Given the description of an element on the screen output the (x, y) to click on. 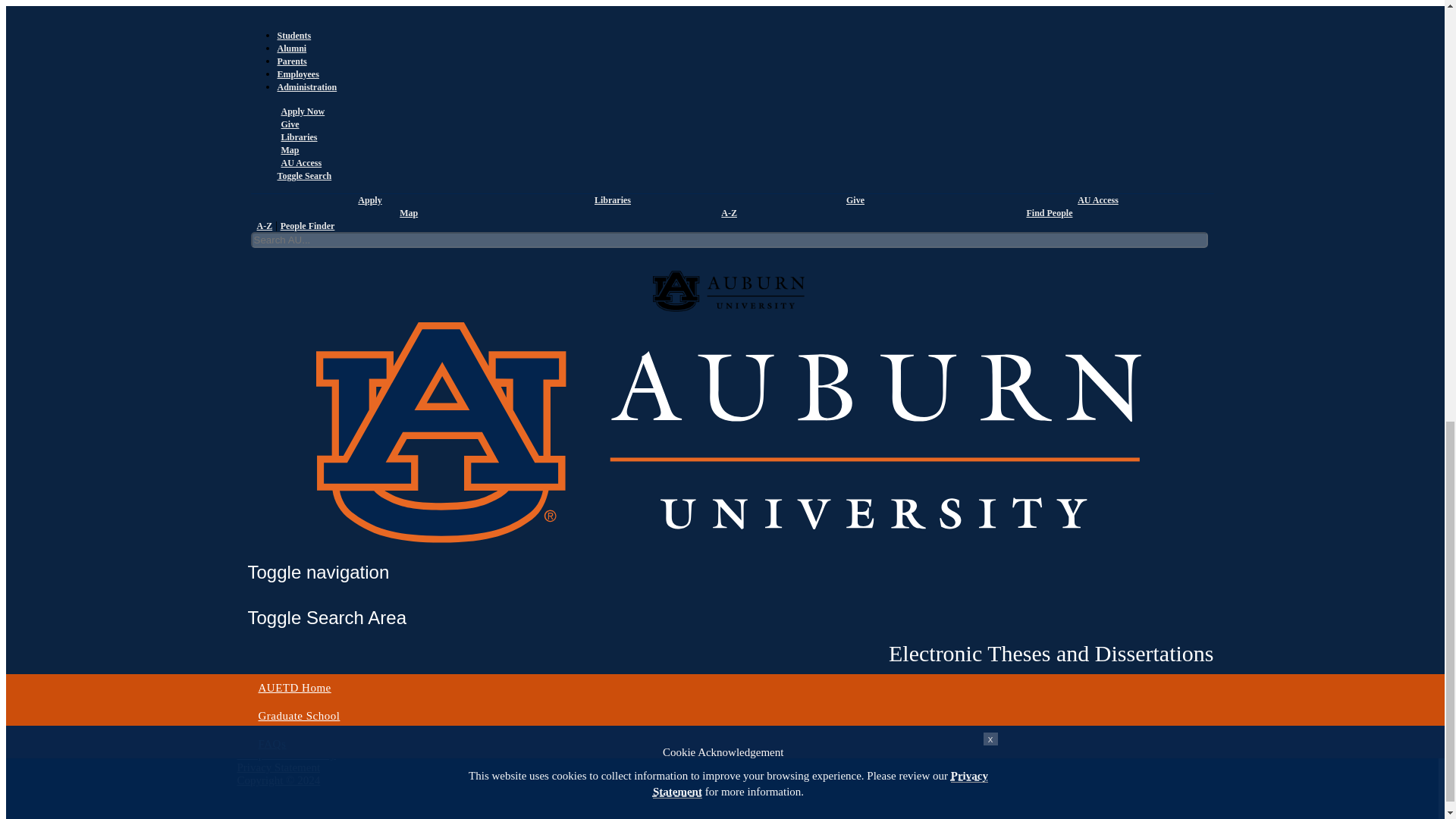
Auburn University YouTube channel (256, 704)
Auburn University Facebook page (258, 665)
Auburn University Twitter (252, 678)
Auburn University Instagram (258, 691)
